Given the description of an element on the screen output the (x, y) to click on. 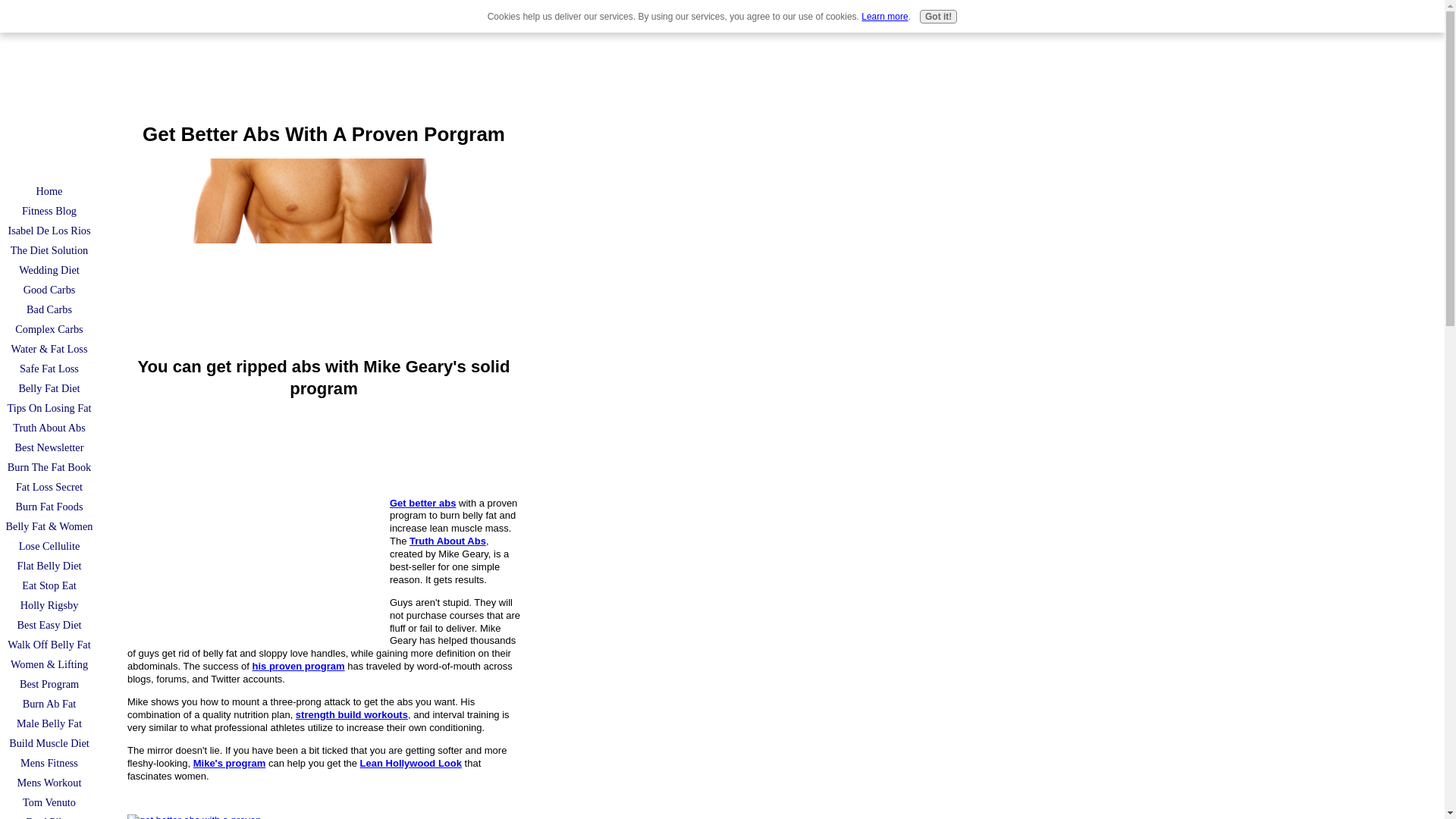
Home (49, 190)
Complex Carbs (49, 329)
Holly Rigsby (49, 605)
Belly Fat Diet (49, 388)
Best Program (49, 683)
Tips On Losing Fat (49, 407)
Build Muscle Diet (49, 742)
get better abs with a proven program (323, 252)
Burn Ab Fat (49, 703)
Mens Fitness (49, 762)
